Given the description of an element on the screen output the (x, y) to click on. 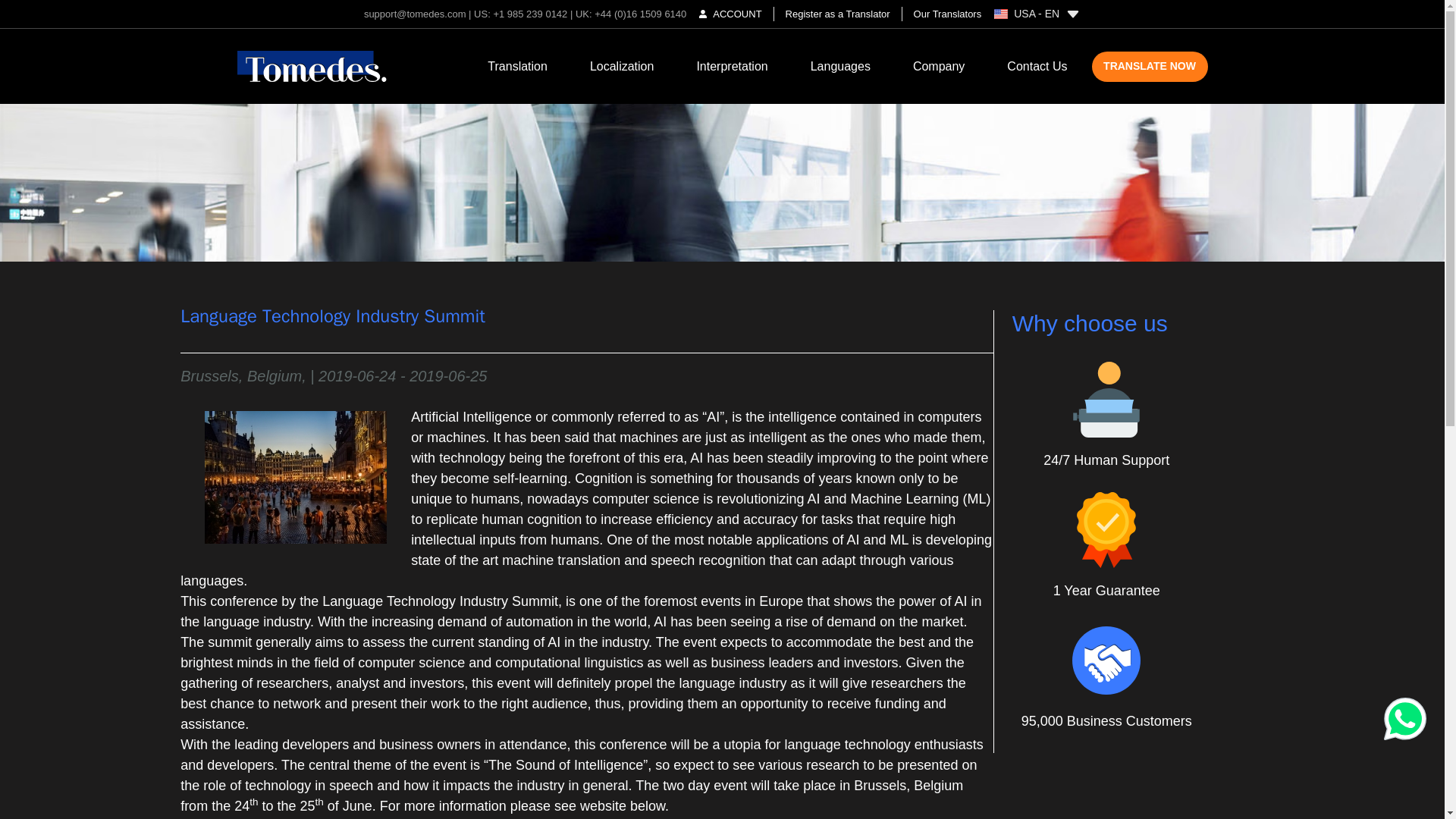
Translation (517, 65)
Interpretation (731, 65)
Register as a Translator (837, 14)
ACCOUNT (729, 14)
Our Translators (941, 14)
Localization (621, 65)
